Given the description of an element on the screen output the (x, y) to click on. 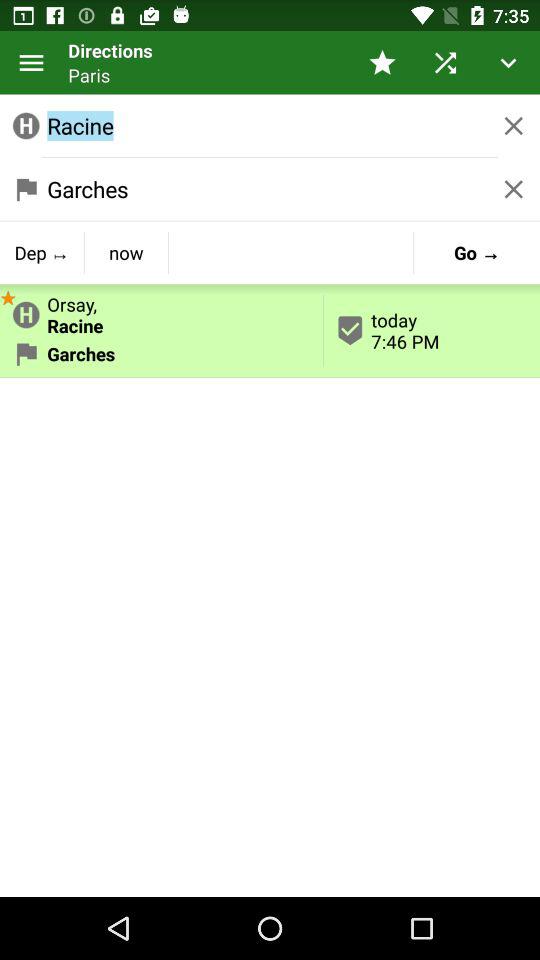
scroll until orsay,
racine icon (161, 311)
